Given the description of an element on the screen output the (x, y) to click on. 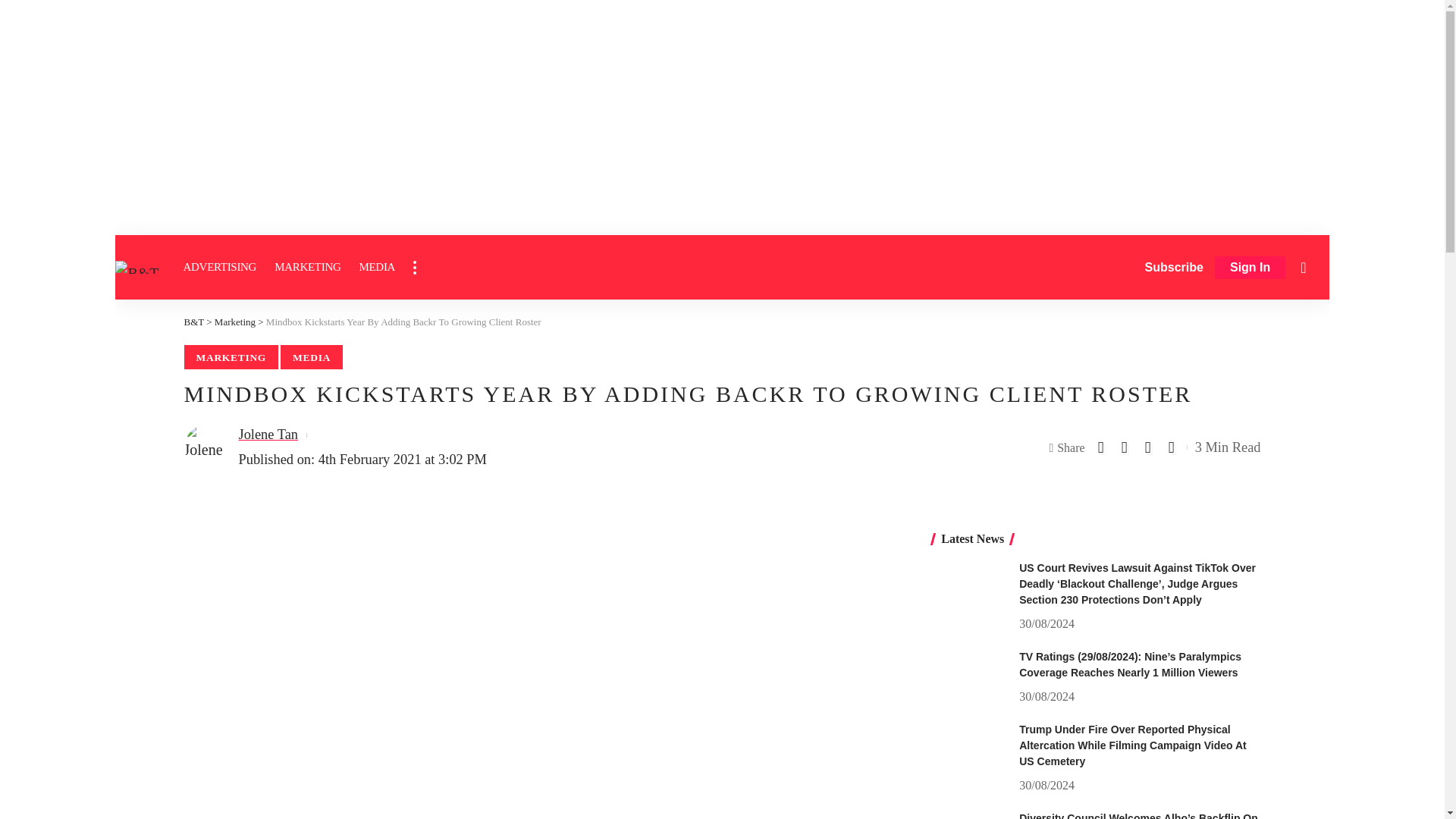
Go to the Marketing Category archives. (235, 321)
Subscribe (1174, 267)
MARKETING (306, 267)
Sign In (1249, 267)
ADVERTISING (220, 267)
